Given the description of an element on the screen output the (x, y) to click on. 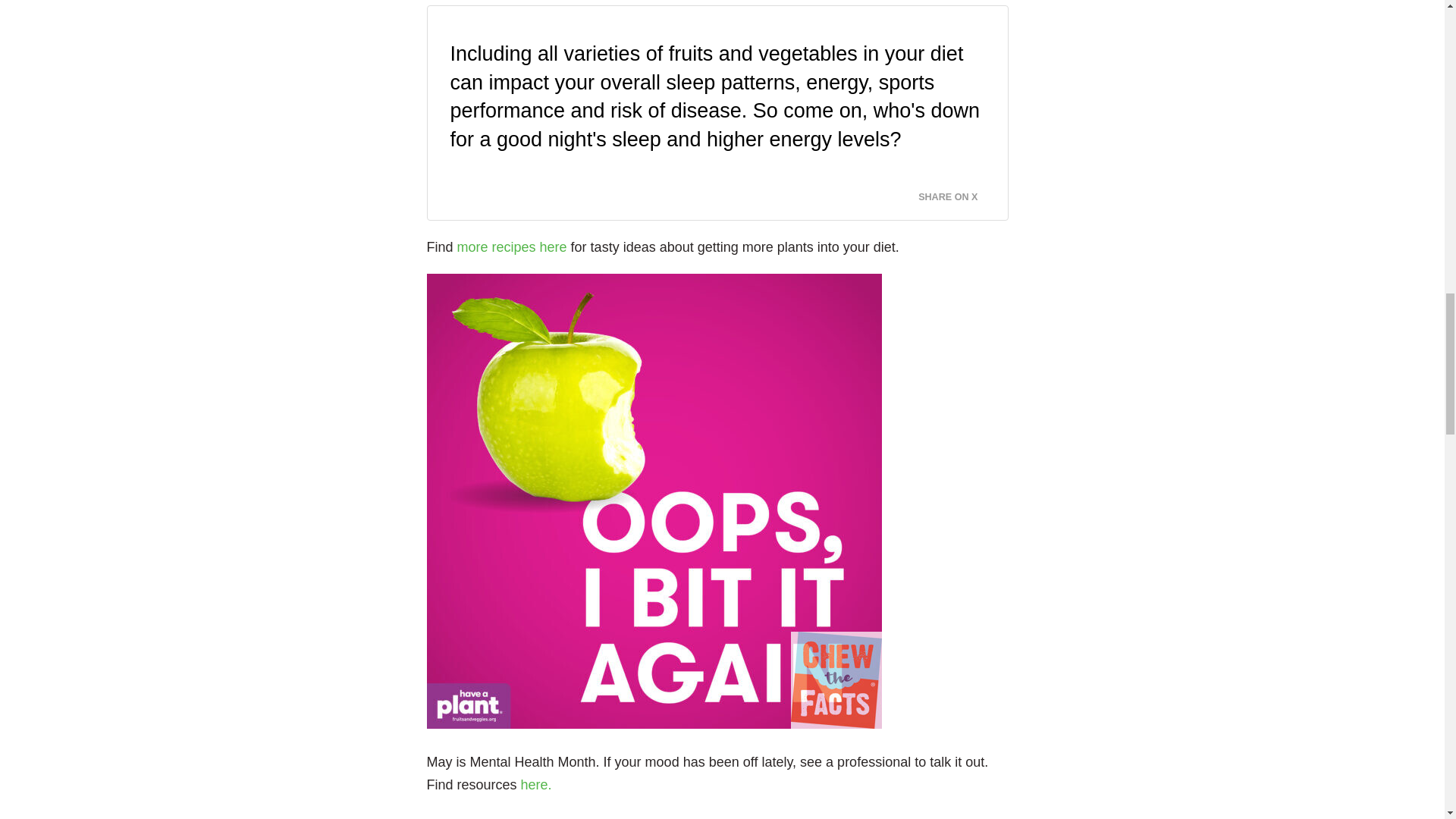
more recipes here (512, 246)
SHARE ON X (956, 192)
here. (536, 784)
